Given the description of an element on the screen output the (x, y) to click on. 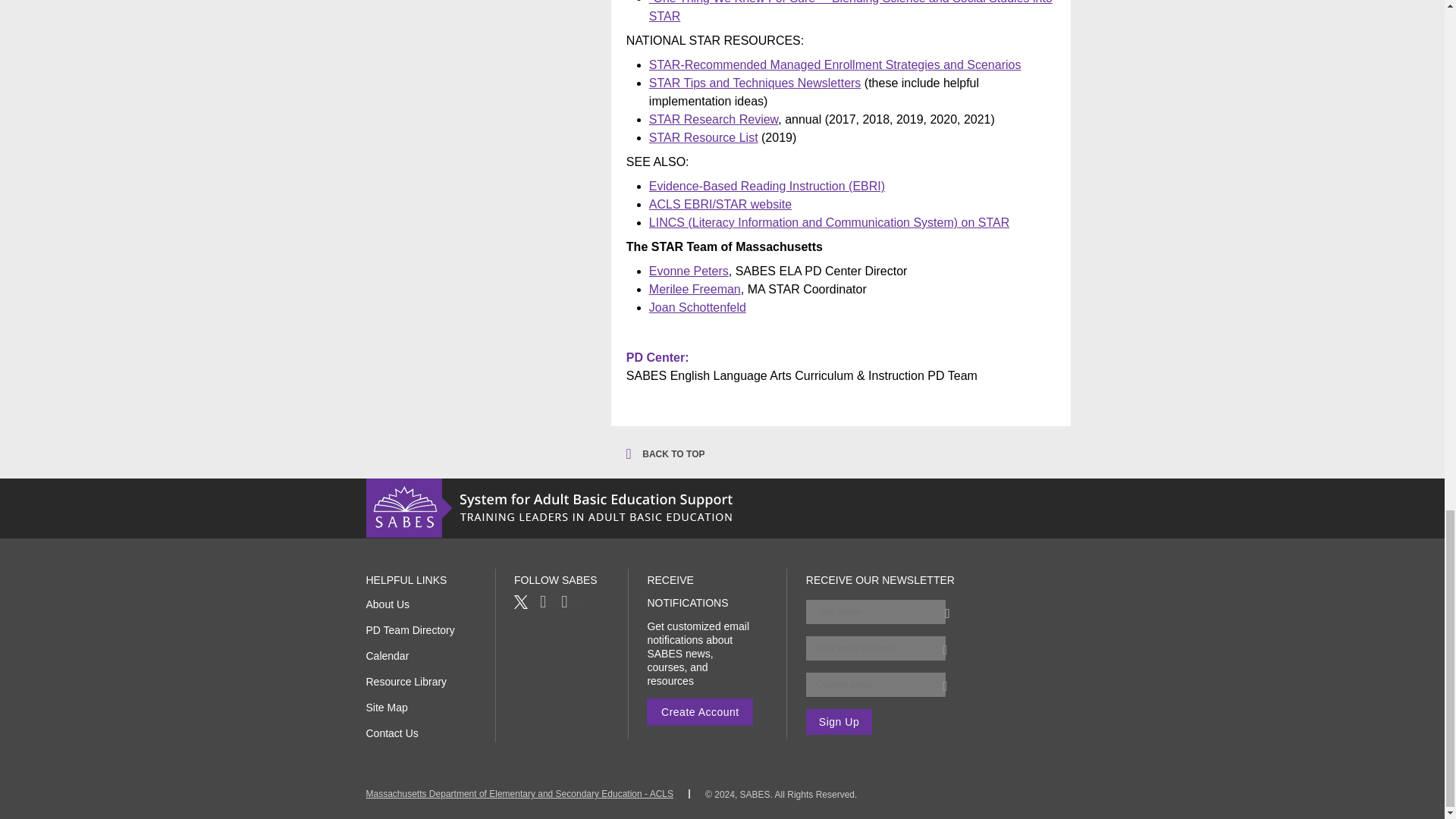
Sign Up (839, 721)
